Given the description of an element on the screen output the (x, y) to click on. 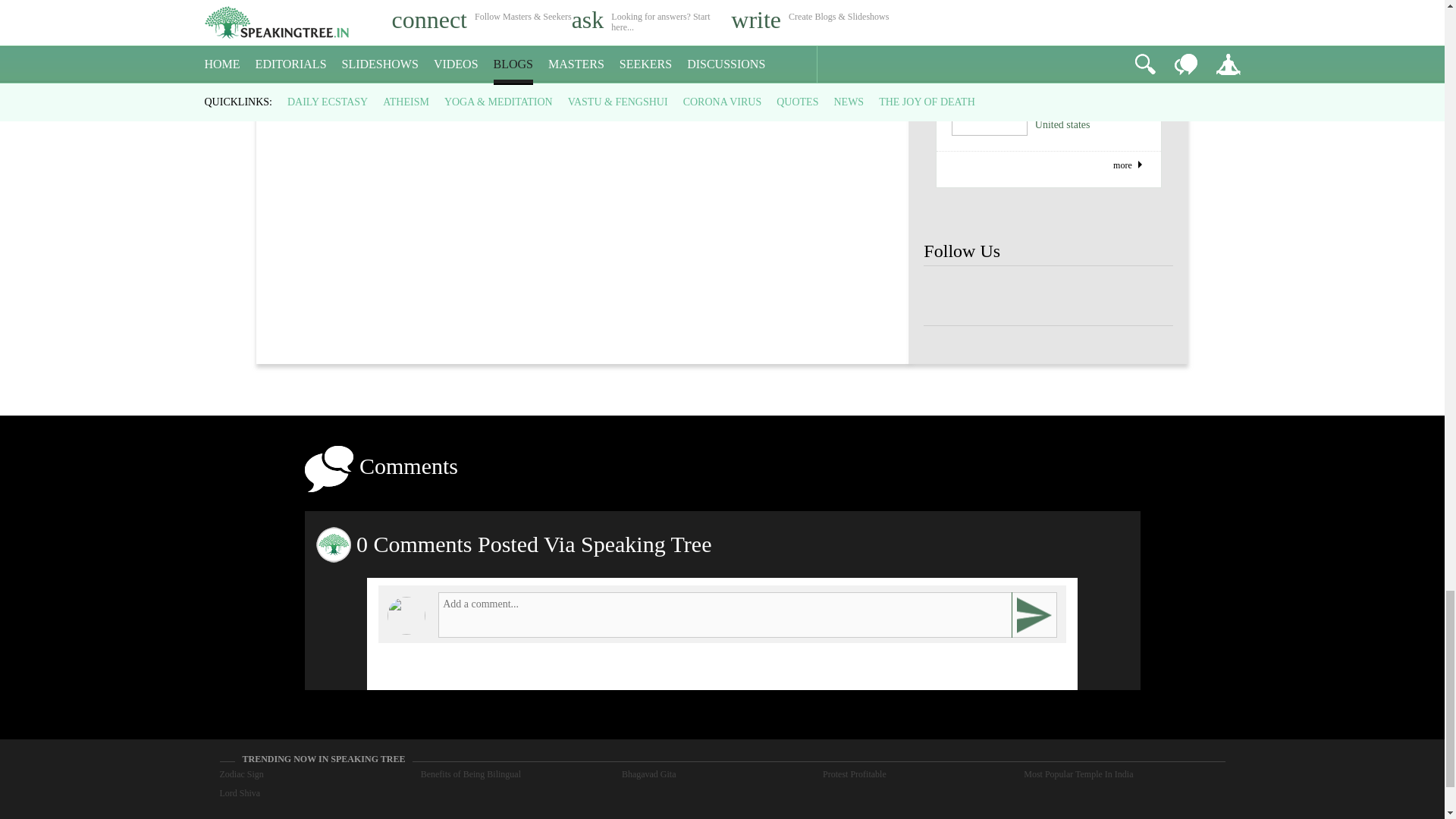
Speaking Tree FaceBook (948, 296)
Speaking Tree FaceBook (1099, 296)
Speaking Tree FaceBook (998, 296)
Speaking Tree FaceBook (1048, 296)
Speaking Tree FaceBook (1147, 296)
